Given the description of an element on the screen output the (x, y) to click on. 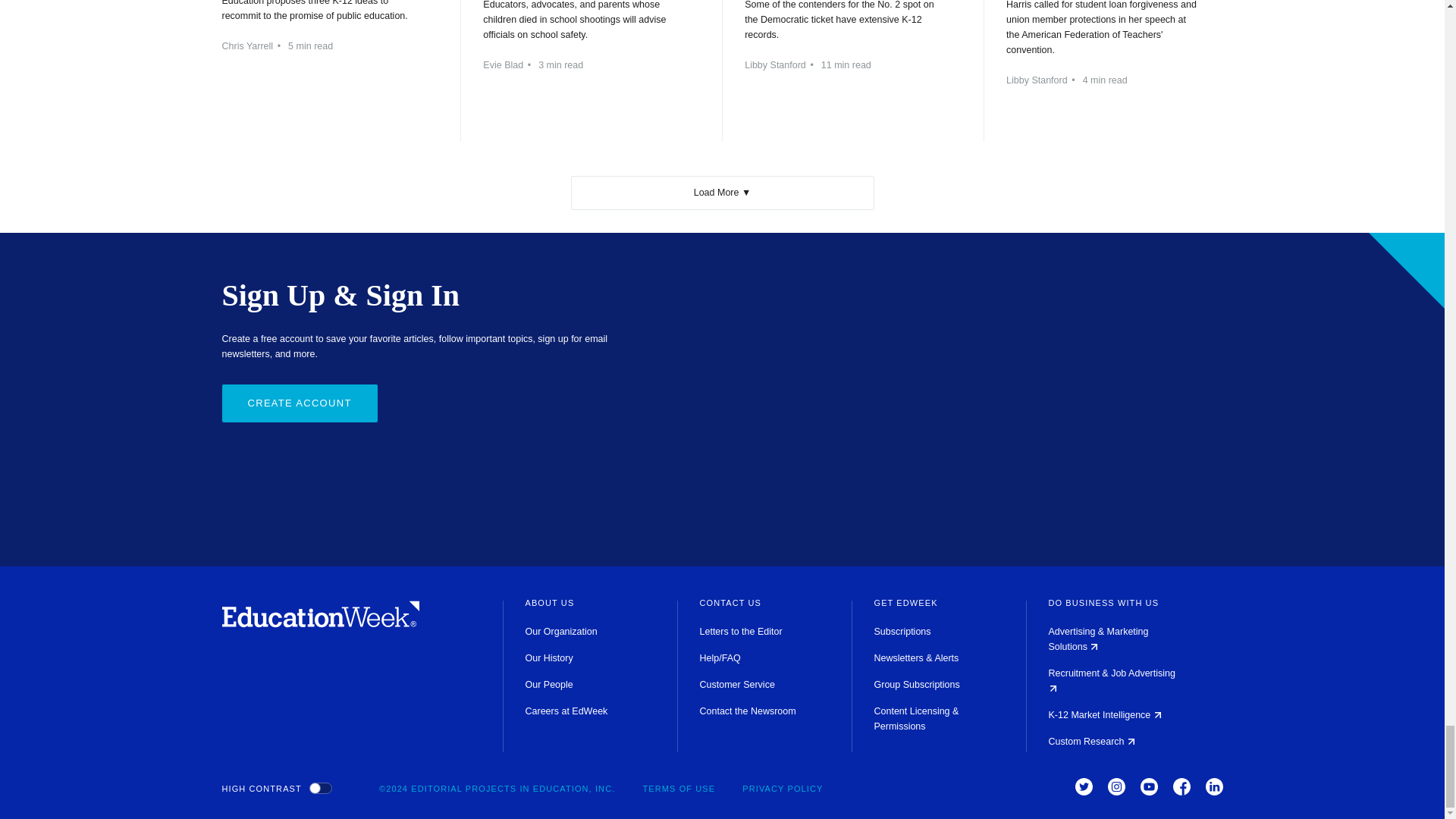
Homepage (320, 623)
